Given the description of an element on the screen output the (x, y) to click on. 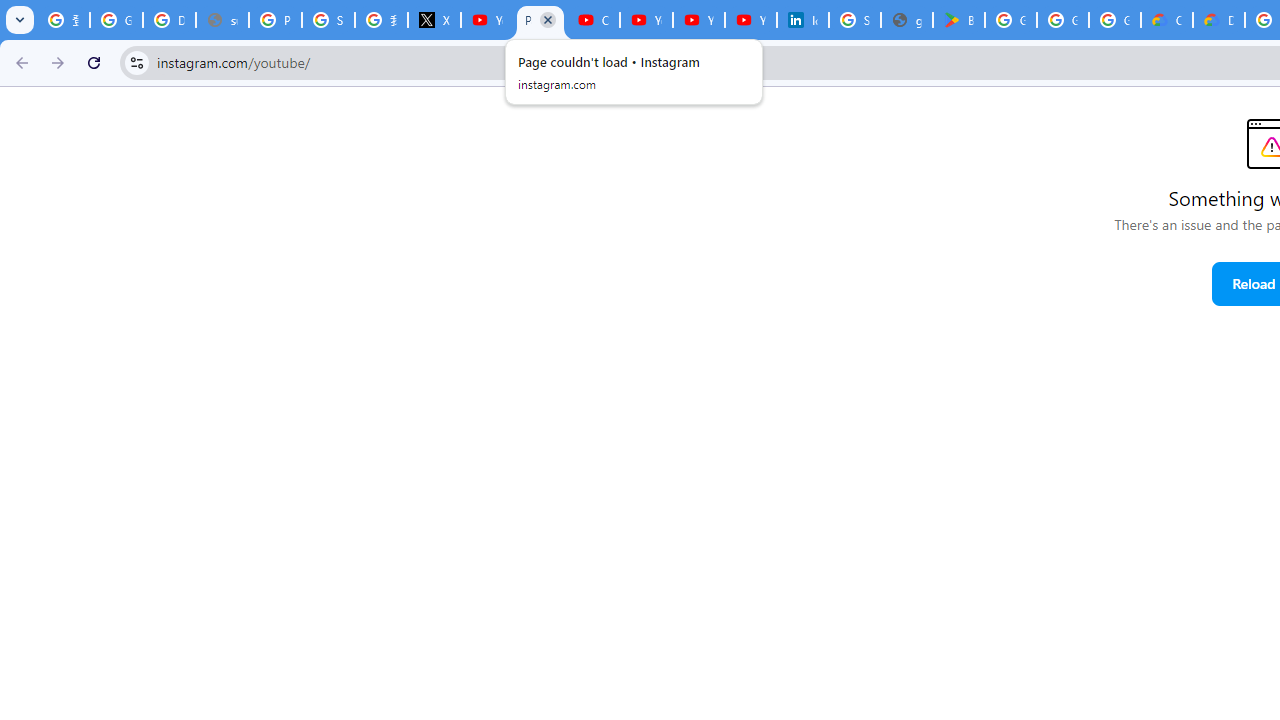
YouTube Content Monetization Policies - How YouTube Works (487, 20)
YouTube Culture & Trends - YouTube Top 10, 2021 (750, 20)
YouTube Culture & Trends - YouTube Top 10, 2021 (698, 20)
X (434, 20)
Sign in - Google Accounts (854, 20)
Privacy Help Center - Policies Help (275, 20)
support.google.com - Network error (222, 20)
Identity verification via Persona | LinkedIn Help (803, 20)
Bluey: Let's Play! - Apps on Google Play (959, 20)
